Given the description of an element on the screen output the (x, y) to click on. 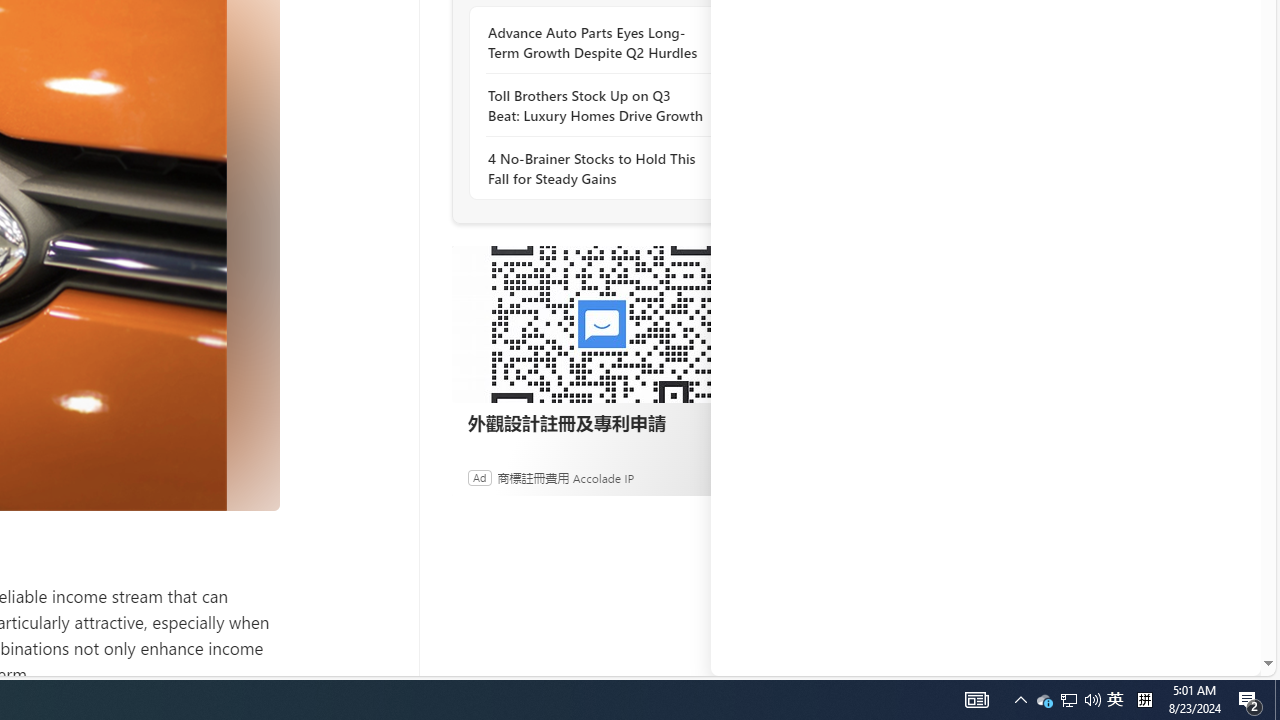
Advance Auto Parts Eyes Long-Term Growth Despite Q2 Hurdles (596, 43)
4 No-Brainer Stocks to Hold This Fall for Steady Gains (596, 168)
Toll Brothers Stock Up on Q3 Beat: Luxury Homes Drive Growth (596, 105)
